Given the description of an element on the screen output the (x, y) to click on. 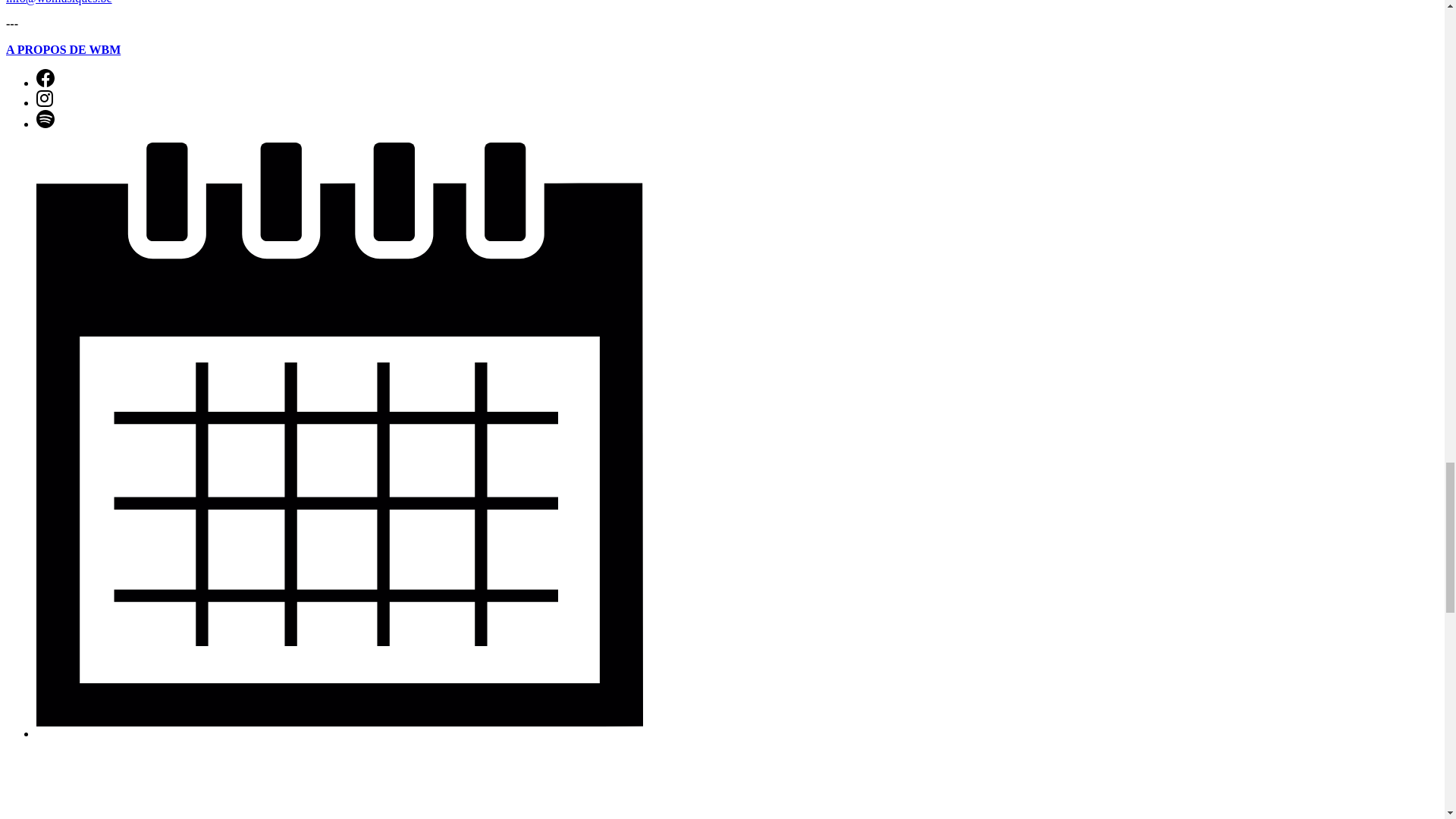
Facebook (45, 82)
Facebook (45, 77)
Instagram (44, 102)
Spotify (45, 123)
Spotify (45, 123)
A PROPOS DE WBM (62, 49)
Spotify (45, 118)
Facebook (45, 82)
Instagram (44, 98)
Instagram (44, 102)
